Given the description of an element on the screen output the (x, y) to click on. 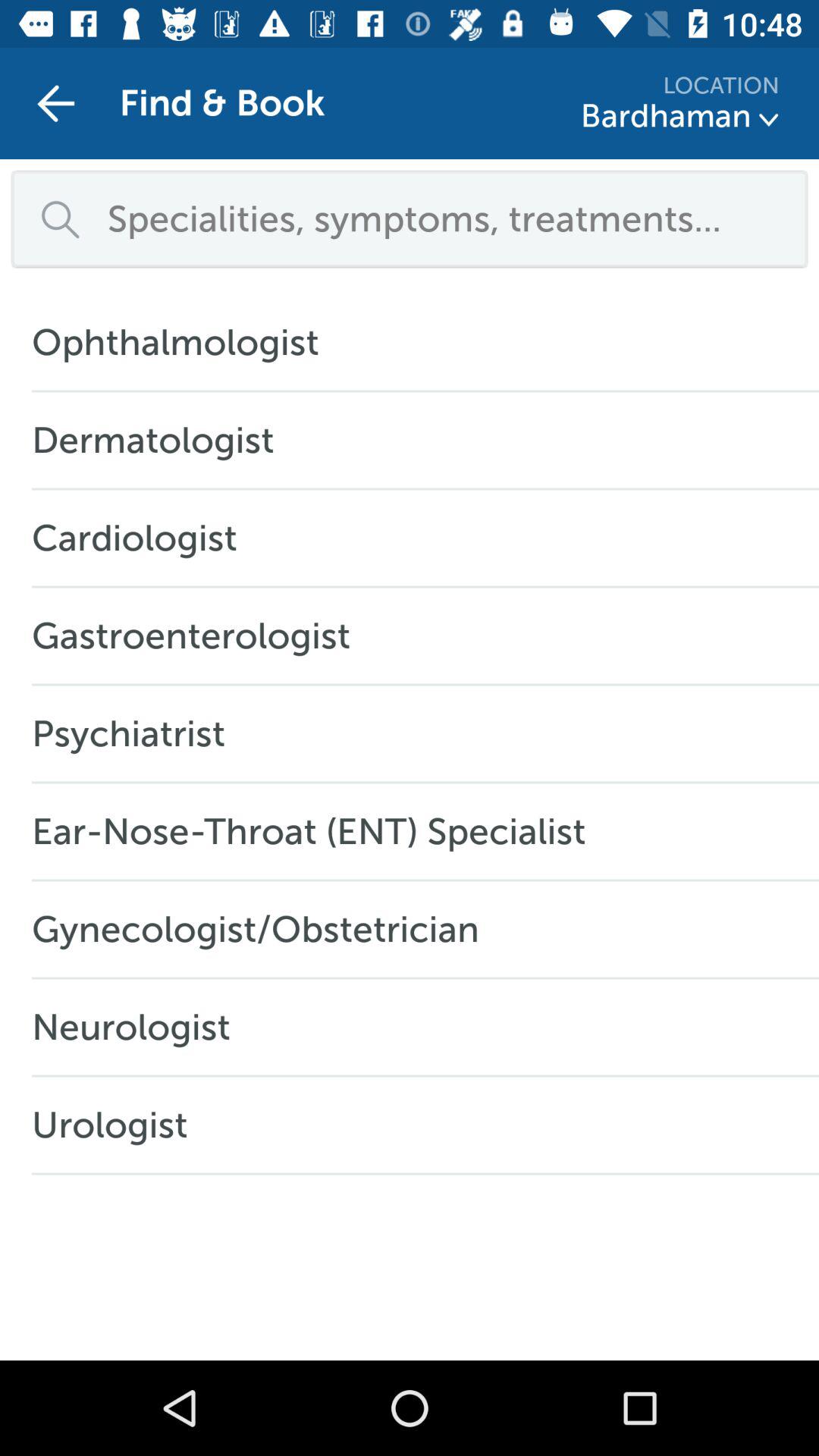
previous page (55, 103)
